Given the description of an element on the screen output the (x, y) to click on. 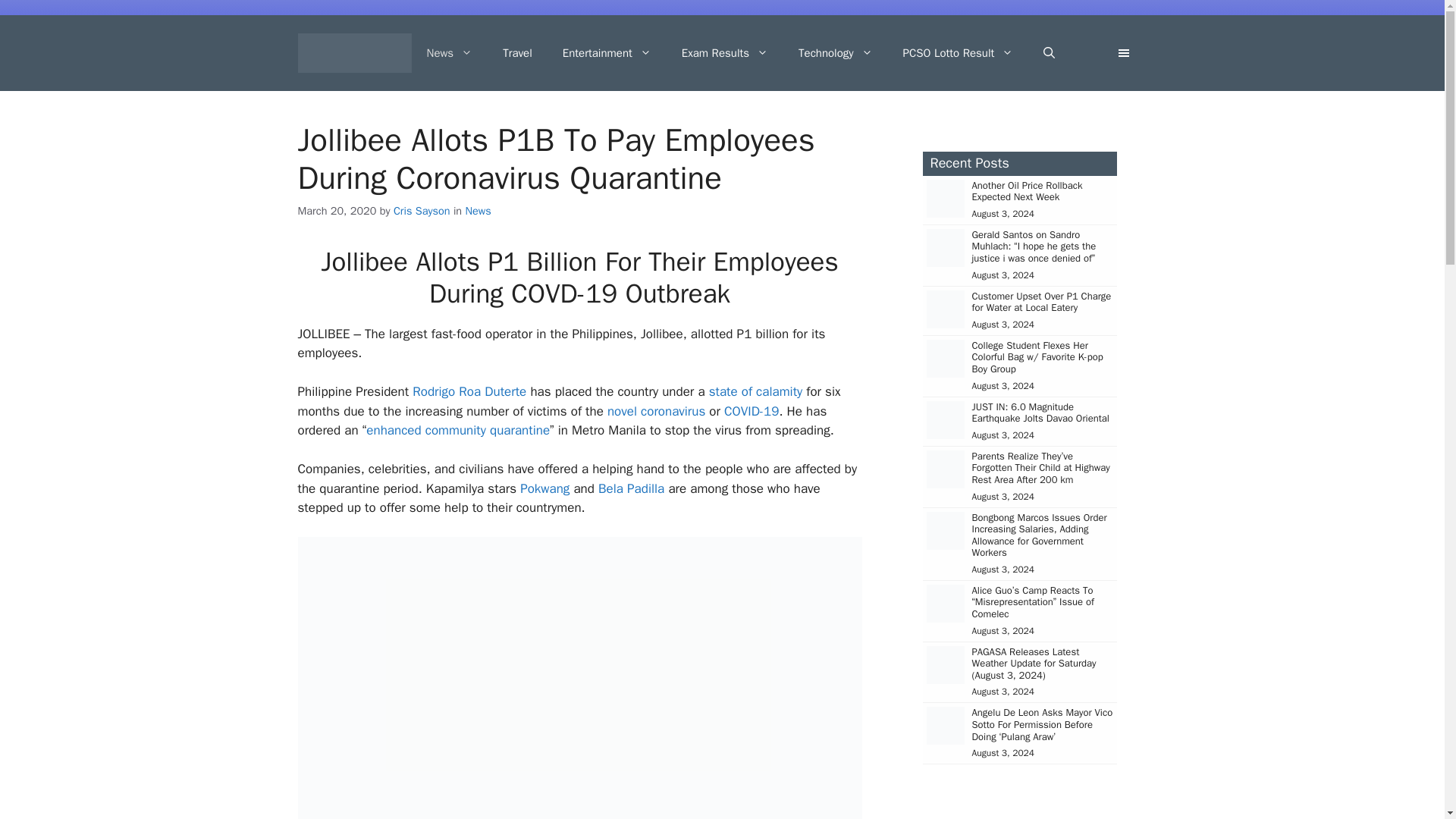
Exam Results (724, 53)
Travel (517, 53)
News (448, 53)
Entertainment (606, 53)
View all posts by Cris Sayson (421, 210)
